Given the description of an element on the screen output the (x, y) to click on. 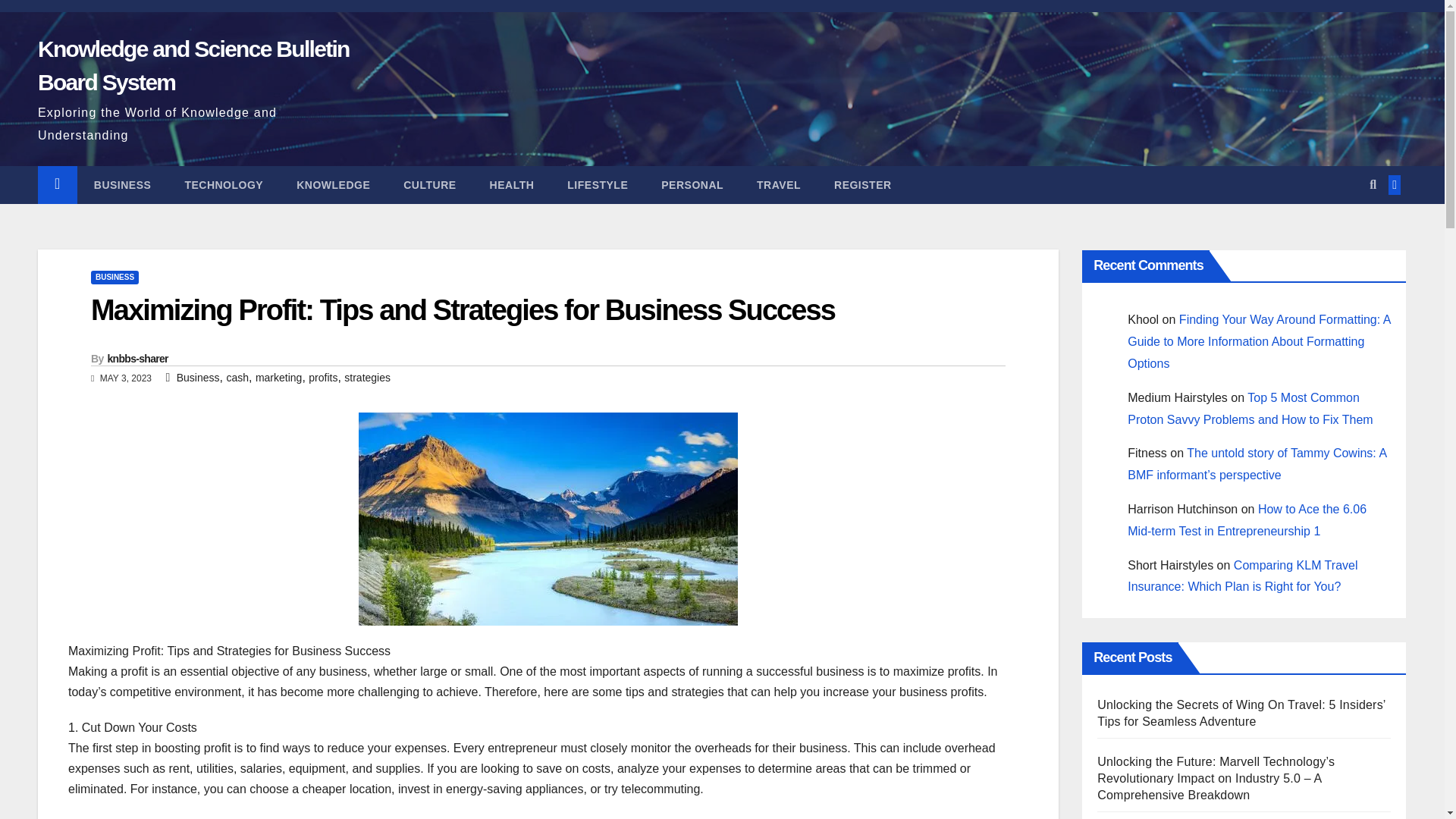
CULTURE (429, 184)
REGISTER (862, 184)
marketing (278, 377)
profits (322, 377)
Personal (692, 184)
Culture (429, 184)
HEALTH (512, 184)
Knowledge and Science Bulletin Board System (193, 65)
Lifestyle (597, 184)
REGISTER (862, 184)
